Given the description of an element on the screen output the (x, y) to click on. 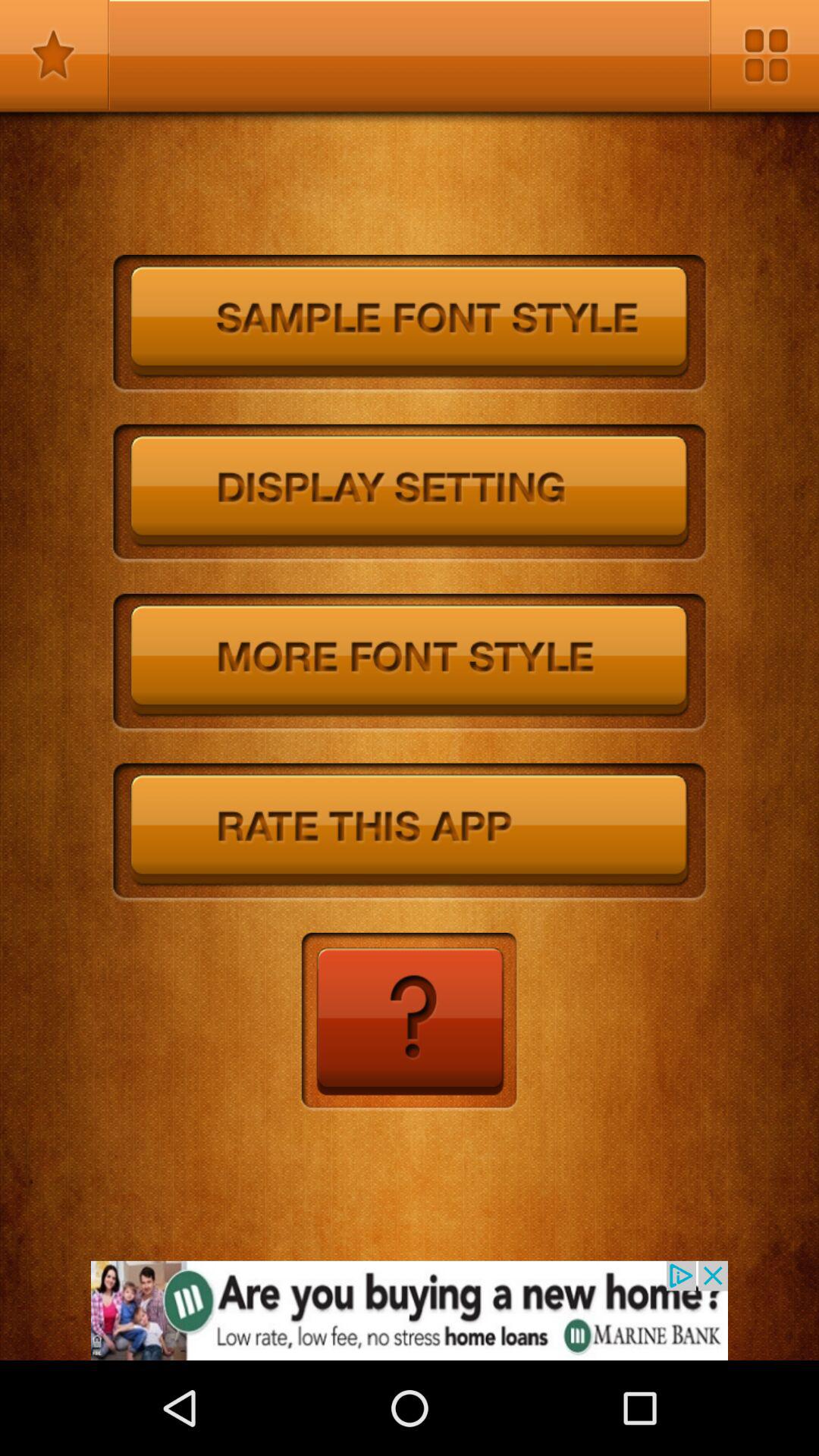
click icon (408, 1021)
